Given the description of an element on the screen output the (x, y) to click on. 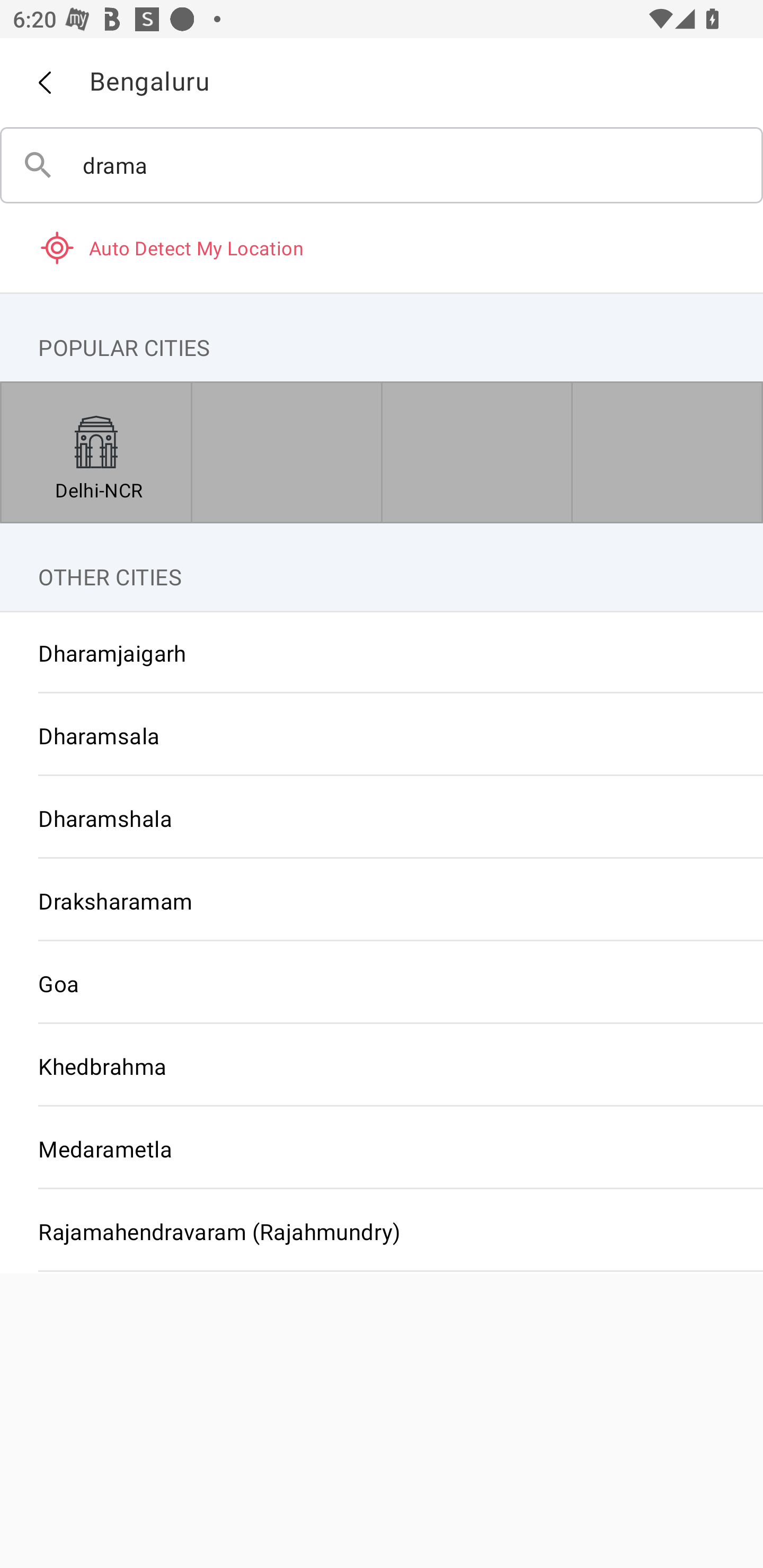
Back (44, 82)
drama (381, 165)
Auto Detect My Location (381, 247)
Delhi-NCR (95, 452)
Dharamjaigarh (381, 653)
Dharamsala (381, 735)
Dharamshala (381, 818)
Draksharamam (381, 900)
Goa (381, 982)
Khedbrahma (381, 1066)
Medarametla (381, 1148)
Rajamahendravaram (Rajahmundry) (381, 1230)
